Given the description of an element on the screen output the (x, y) to click on. 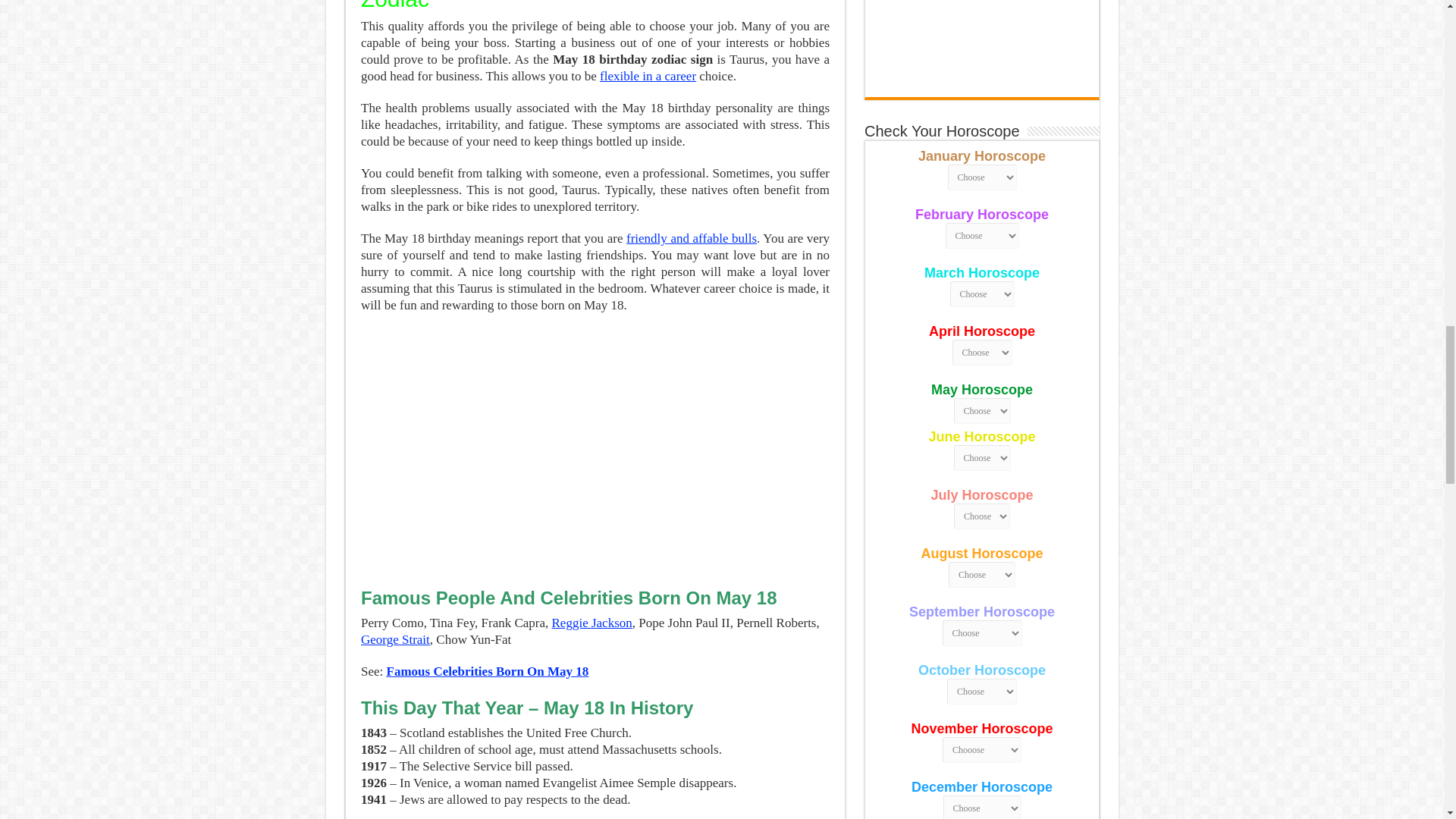
friendly and affable bulls (691, 237)
Reggie Jackson (591, 622)
Famous Celebrities Born On May 18 (488, 671)
flexible in a career (647, 75)
George Strait (395, 639)
